Given the description of an element on the screen output the (x, y) to click on. 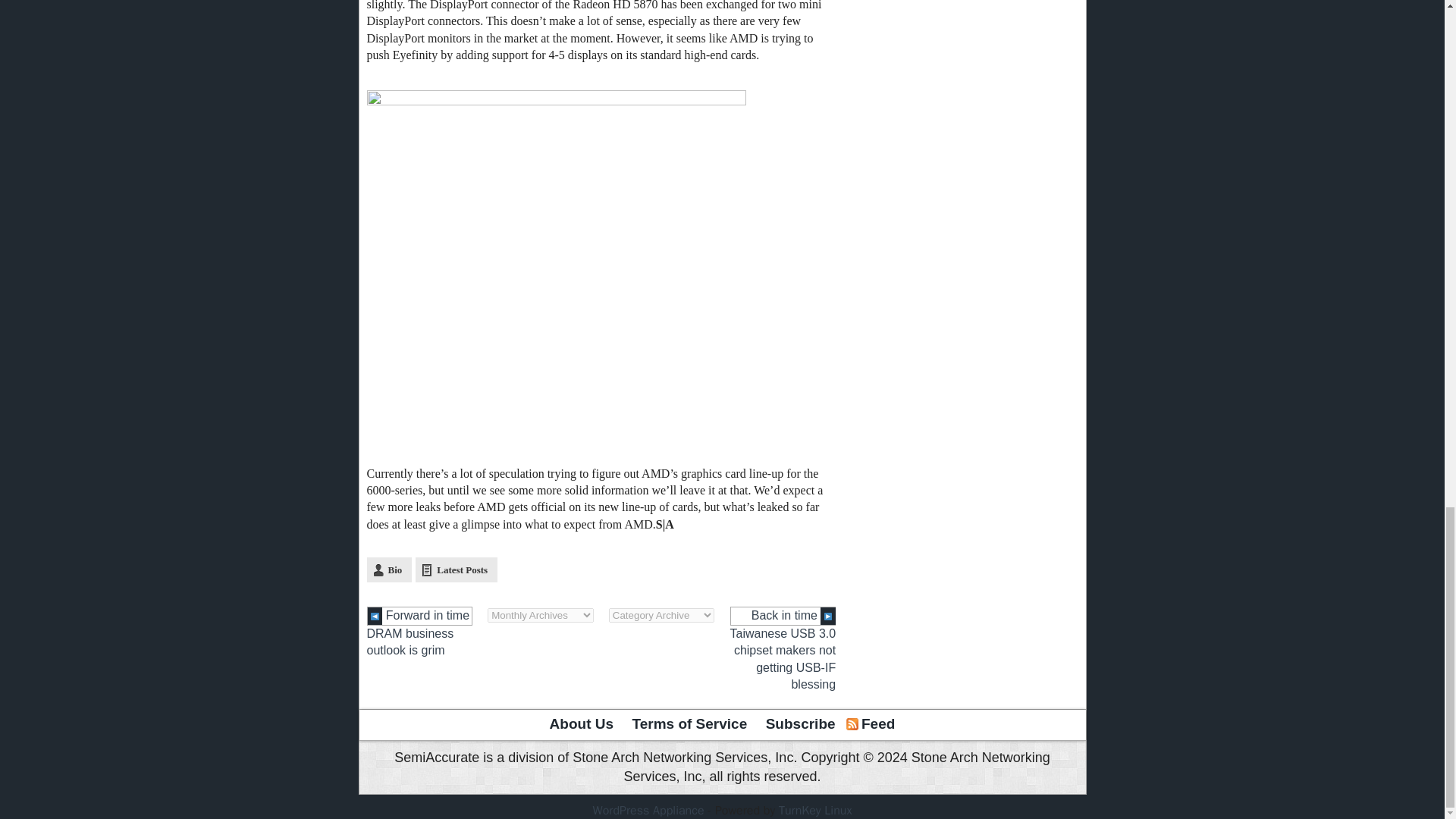
Latest Posts (455, 569)
Subscribe (800, 724)
Forward in time (419, 615)
Taiwanese USB 3.0 chipset makers not getting USB-IF blessing (782, 659)
Terms of Service (689, 724)
DRAM business outlook is grim (410, 641)
Bio (389, 569)
Feed (877, 724)
Back in time (782, 615)
About Us (581, 724)
